Given the description of an element on the screen output the (x, y) to click on. 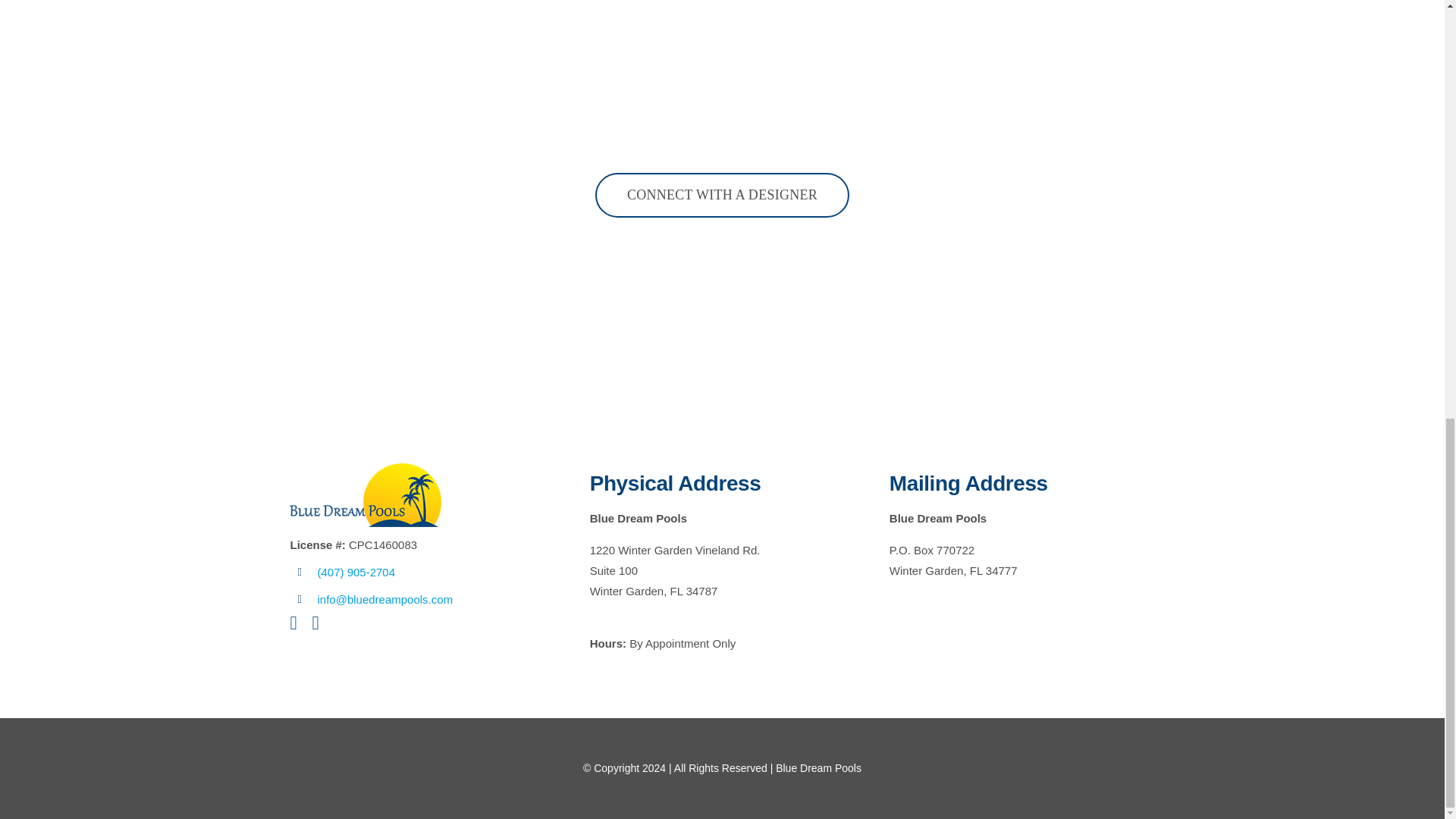
CONNECT WITH A DESIGNER (721, 194)
LEARN MORE (1067, 2)
Connect With A Designer (721, 194)
WebsiteLogo (365, 495)
